Given the description of an element on the screen output the (x, y) to click on. 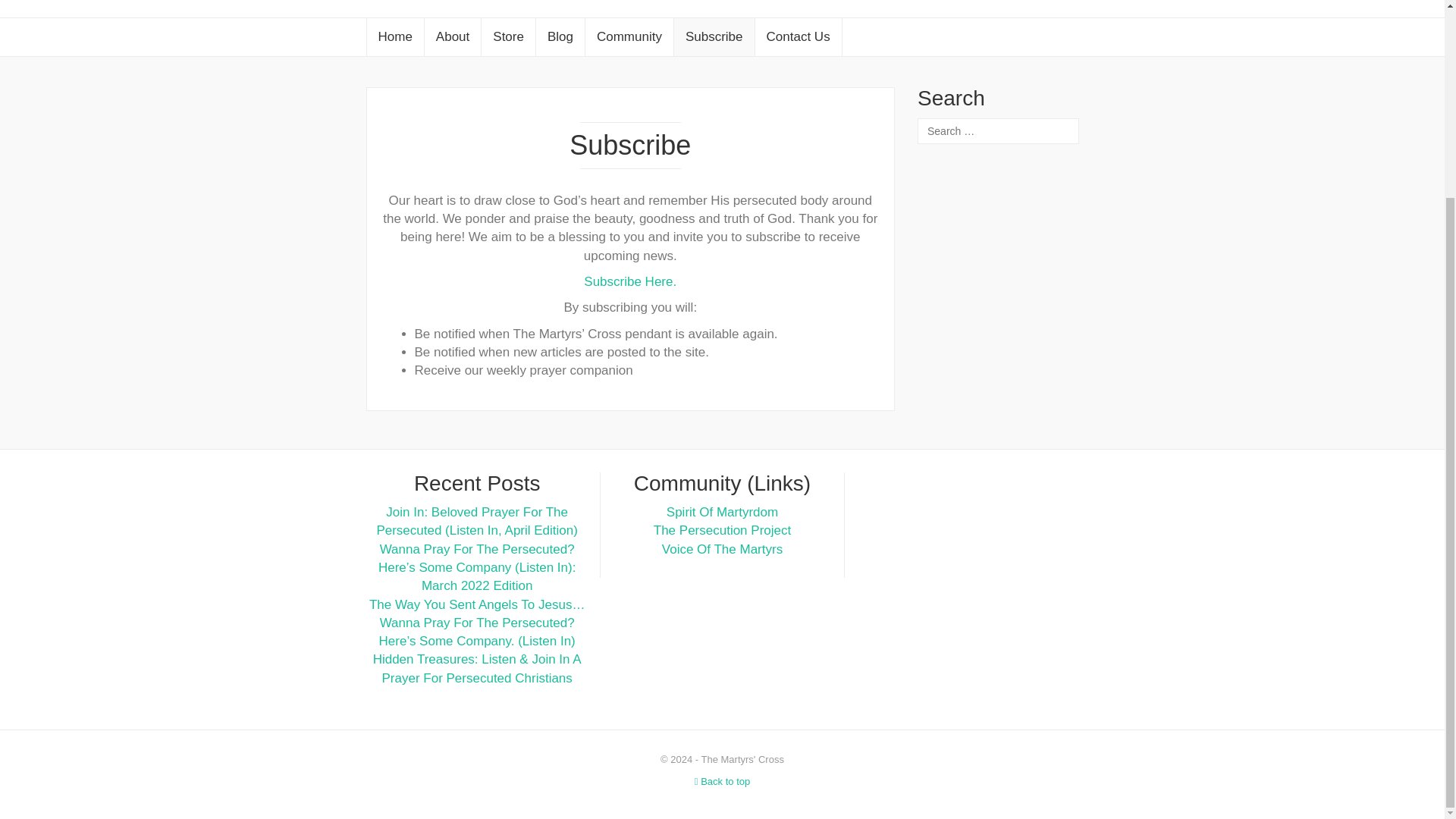
Spirit Of Martyrdom (721, 512)
Subscribe (714, 37)
Contact Us (798, 37)
Blog (560, 37)
The Persecution Project (721, 530)
Home (394, 37)
Back to top (721, 781)
About (452, 37)
Store (508, 37)
About (452, 37)
